Given the description of an element on the screen output the (x, y) to click on. 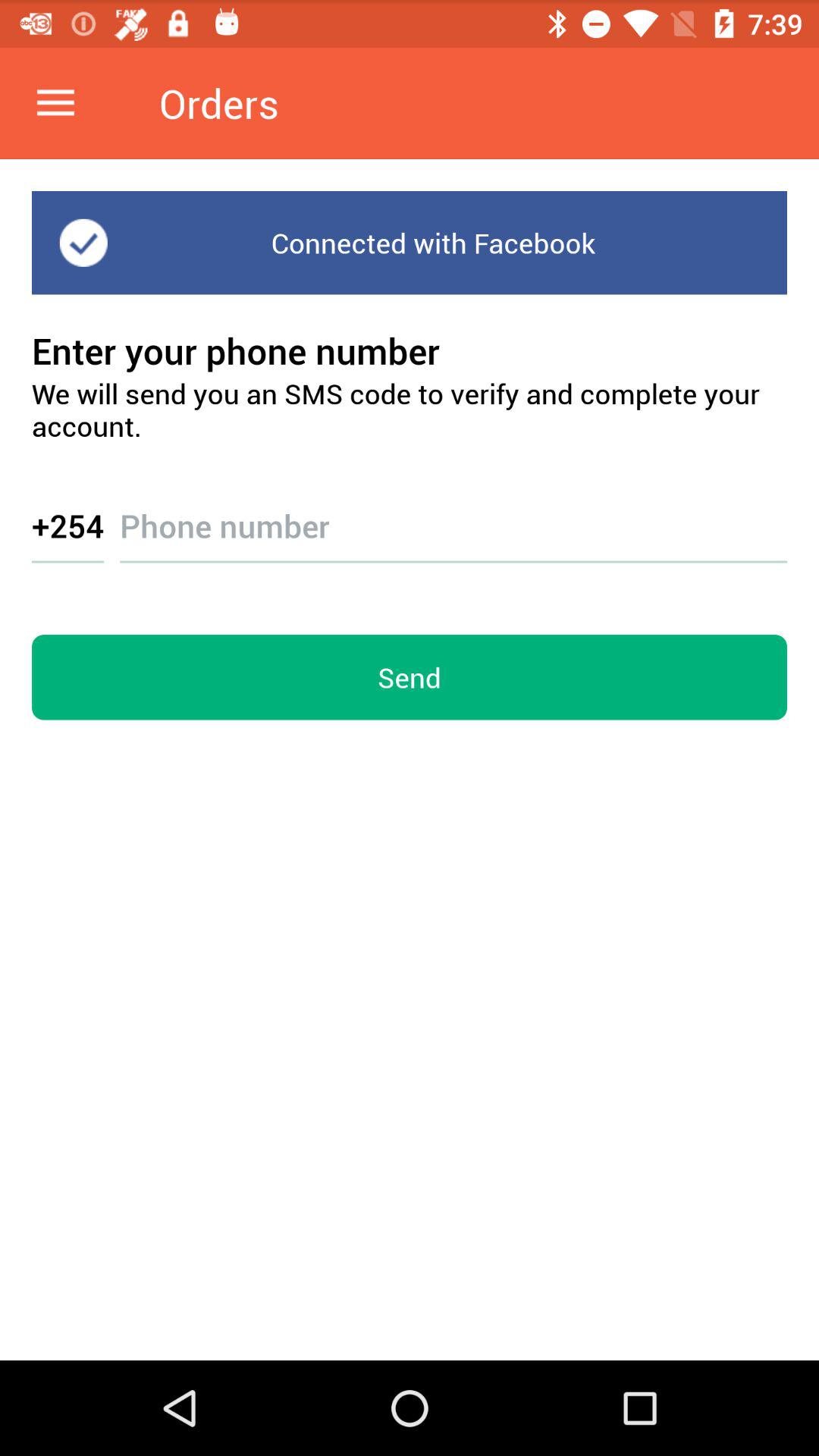
click item on the left (67, 525)
